Given the description of an element on the screen output the (x, y) to click on. 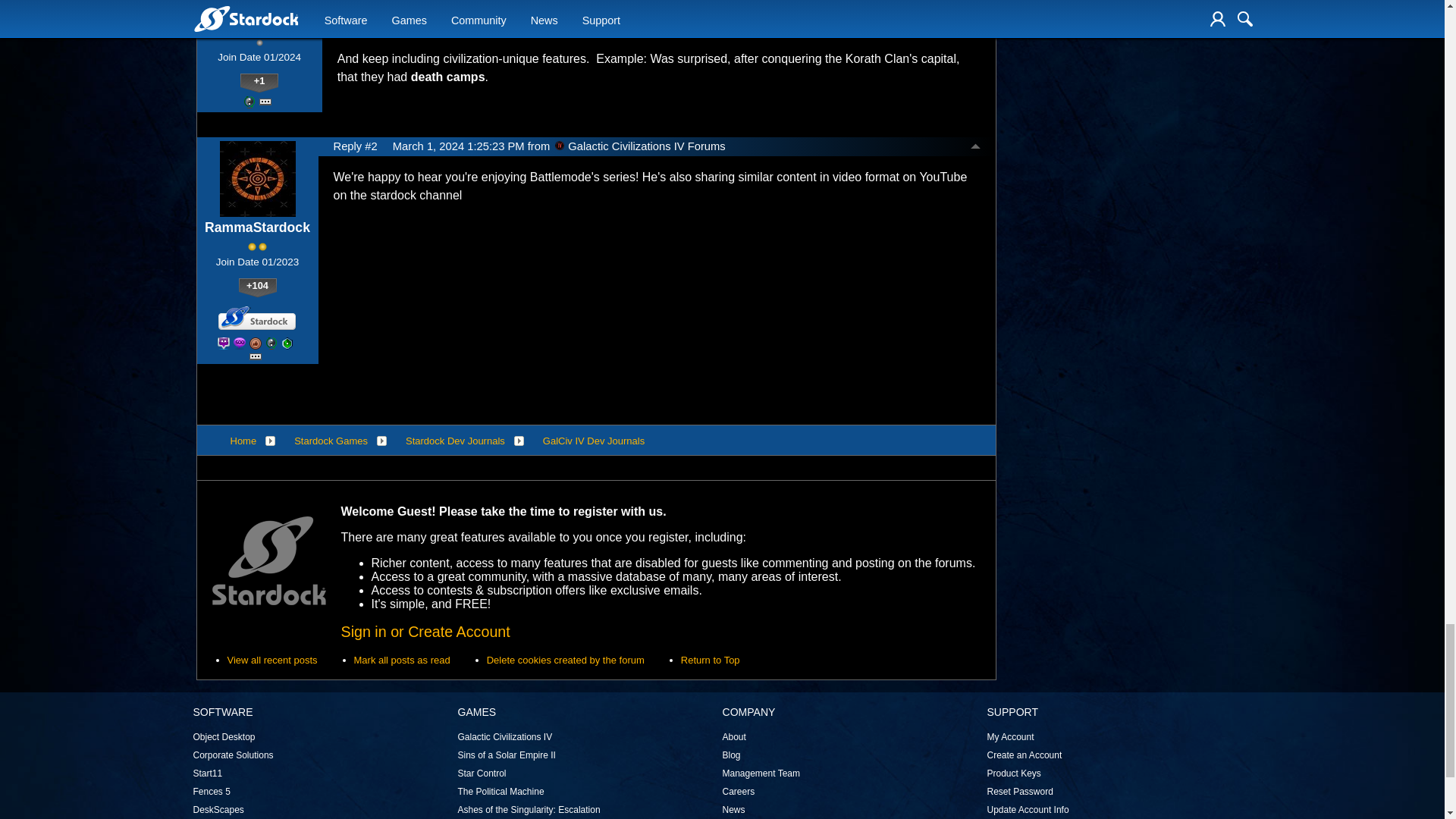
Rank: 1 (259, 42)
Click user name to view more options. (258, 24)
